Given the description of an element on the screen output the (x, y) to click on. 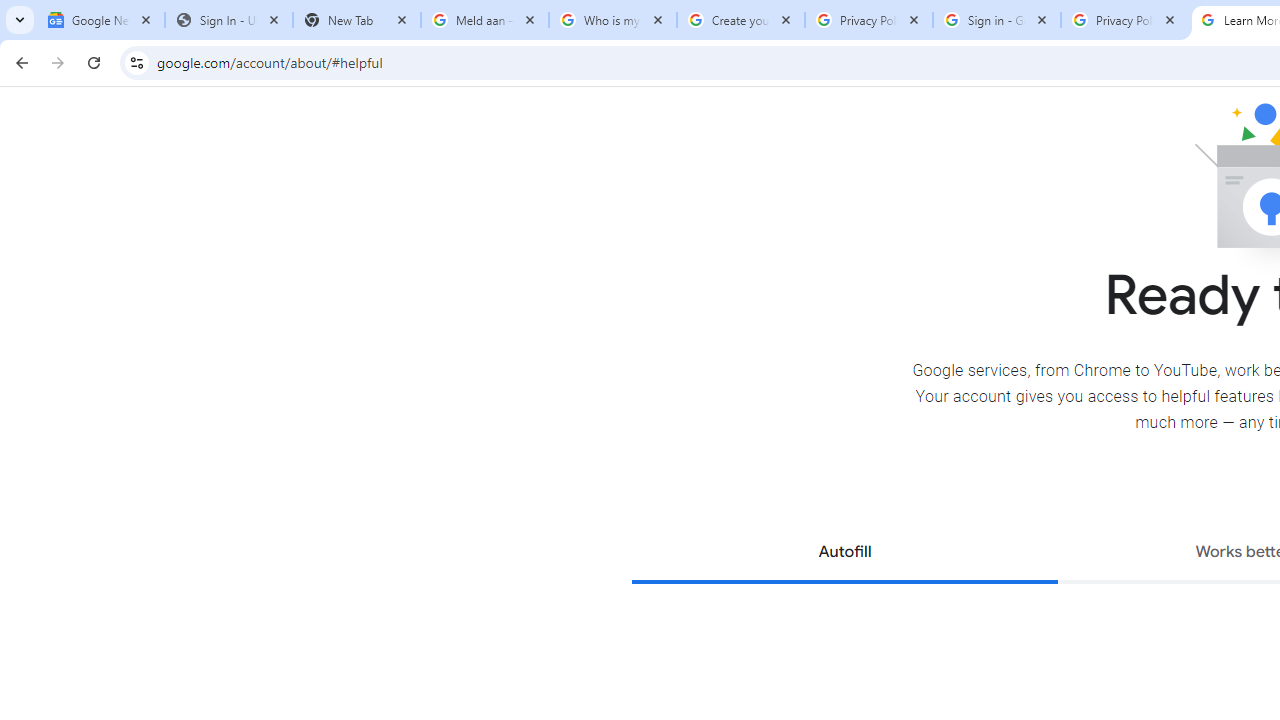
Google News (101, 20)
Sign in - Google Accounts (997, 20)
Sign In - USA TODAY (229, 20)
Who is my administrator? - Google Account Help (613, 20)
New Tab (357, 20)
Autofill (844, 553)
